Given the description of an element on the screen output the (x, y) to click on. 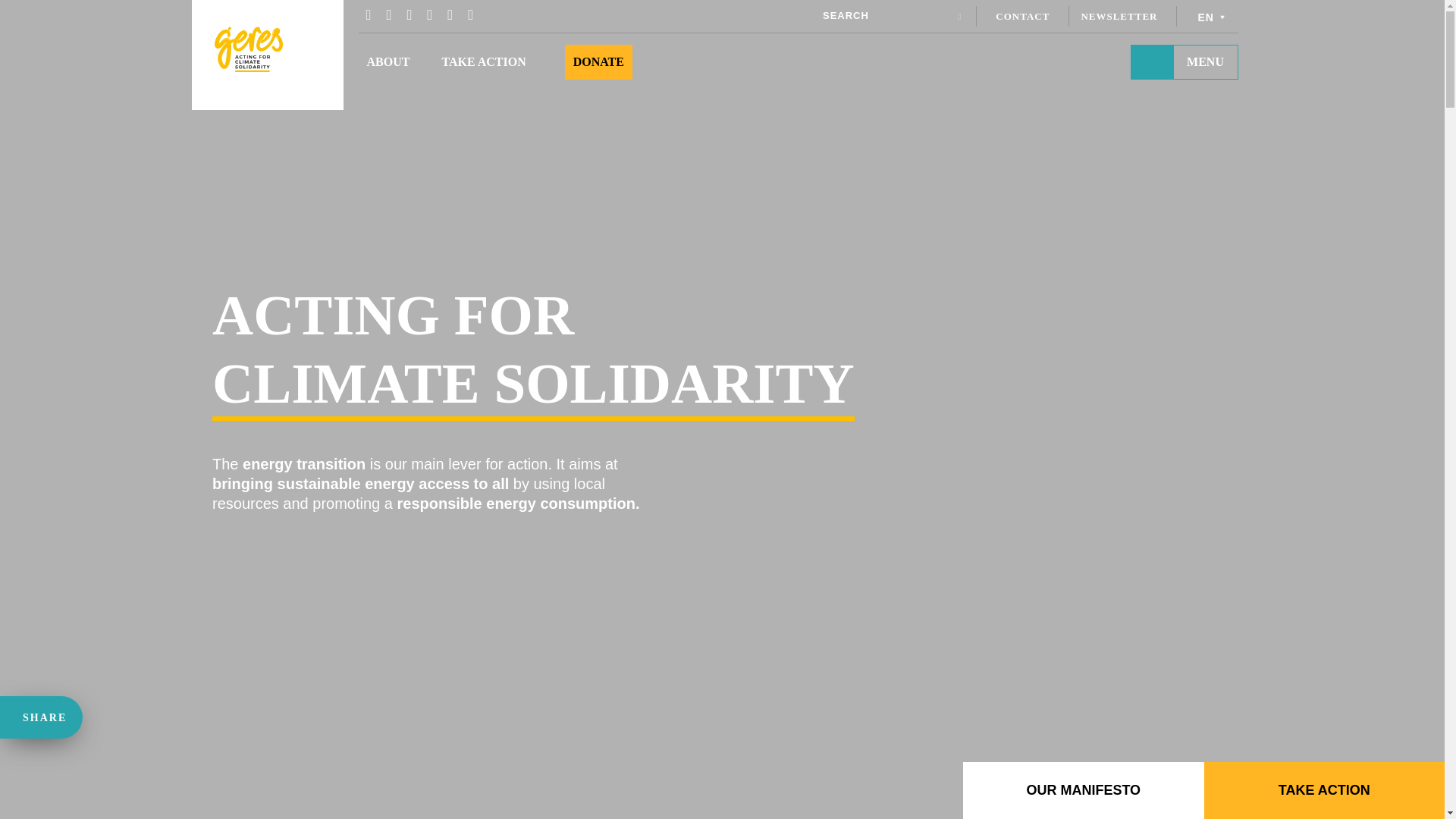
TAKE ACTION (483, 60)
CONTACT (1022, 16)
NEWSLETTER (1118, 16)
DONATE (598, 60)
SHARE (39, 716)
Search for: (886, 15)
ABOUT (388, 60)
EN (1212, 15)
